Given the description of an element on the screen output the (x, y) to click on. 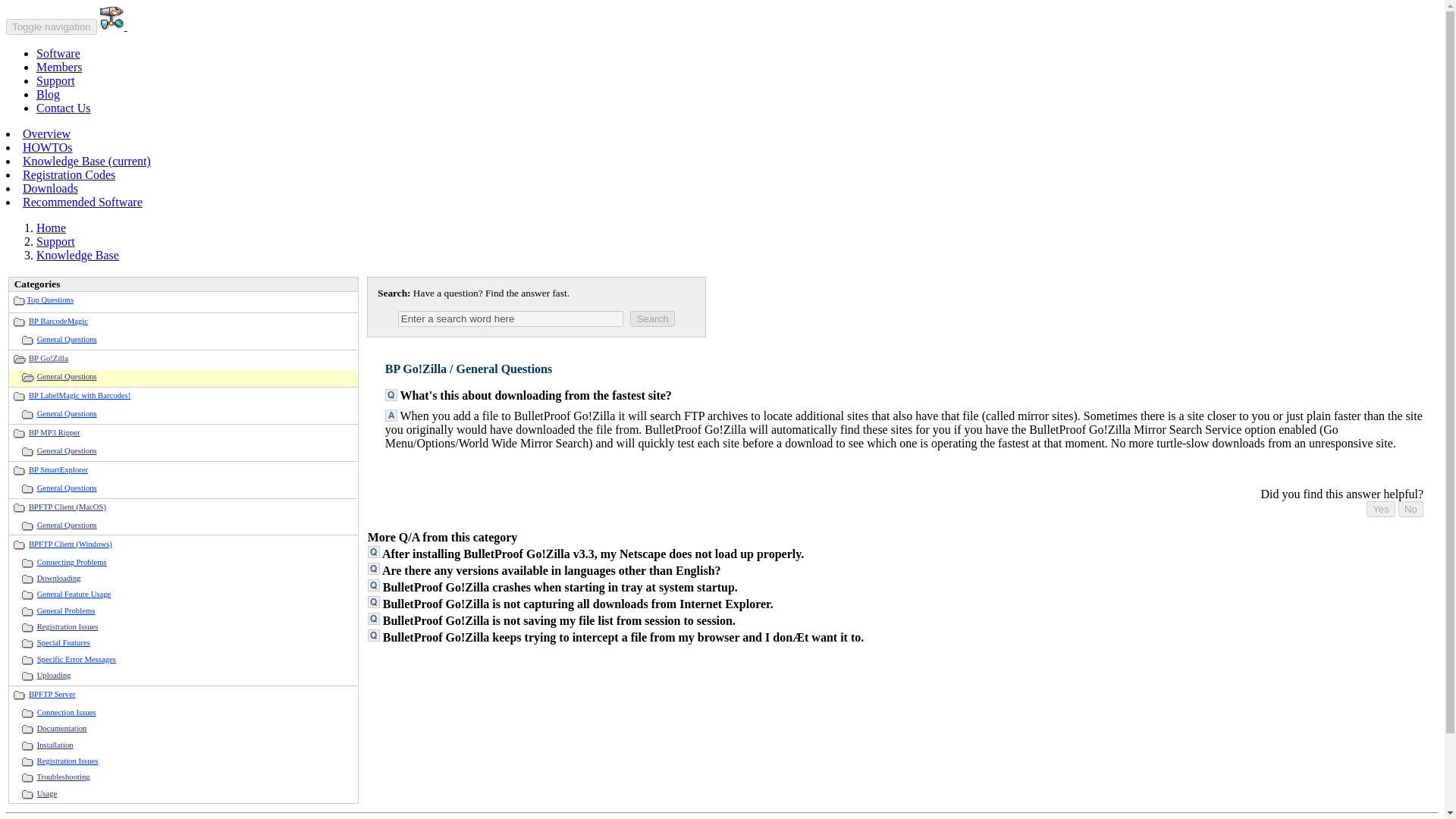
BP MP3 Ripper (54, 432)
Home (50, 227)
General Questions (67, 338)
Knowledge Base (77, 254)
Downloads (50, 187)
General Questions (67, 524)
BP LabelMagic with Barcodes! (80, 395)
General Questions (67, 488)
BulletProof Software LLC (114, 25)
Members (58, 66)
Uploading (54, 674)
General Questions (67, 413)
Registration Codes (69, 174)
Software (58, 52)
Yes (1380, 508)
